Given the description of an element on the screen output the (x, y) to click on. 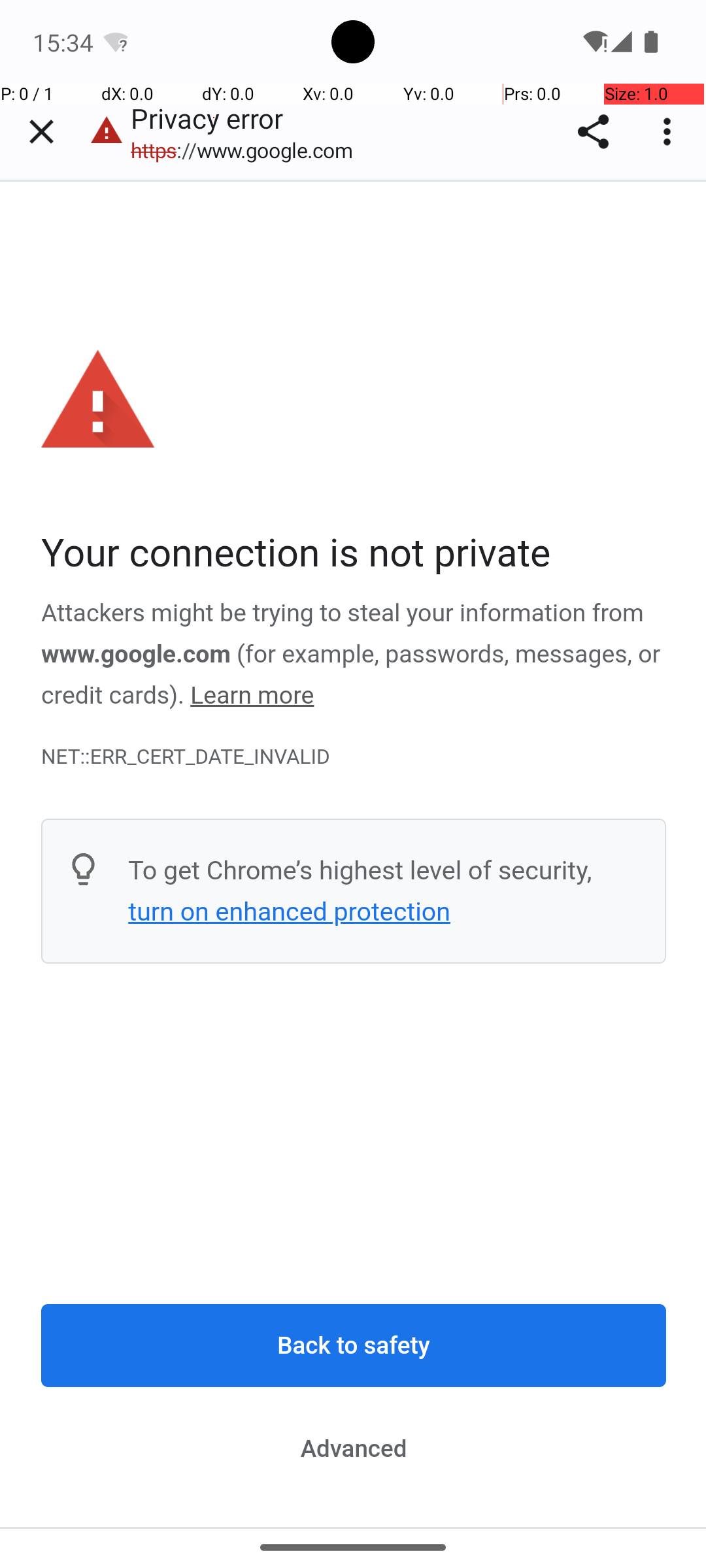
https://www.google.com Element type: android.widget.TextView (248, 149)
www.google.com Element type: android.widget.TextView (136, 653)
